Given the description of an element on the screen output the (x, y) to click on. 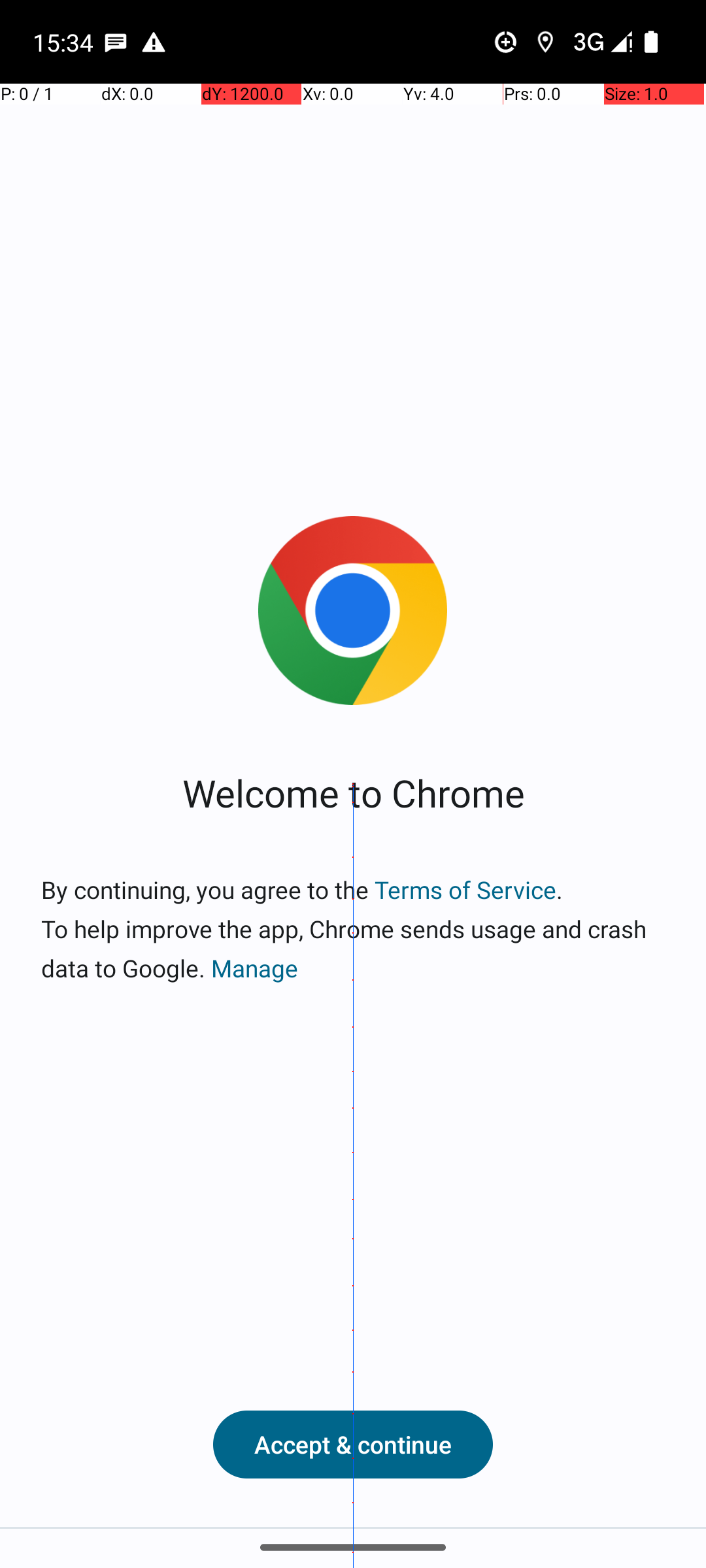
Accept & continue Element type: android.widget.Button (352, 1444)
By continuing, you agree to the Terms of Service.
To help improve the app, Chrome sends usage and crash data to Google. Manage Element type: android.widget.TextView (352, 928)
Data Saver is on Element type: android.widget.ImageView (505, 41)
Location requests active Element type: android.widget.ImageView (545, 41)
